Given the description of an element on the screen output the (x, y) to click on. 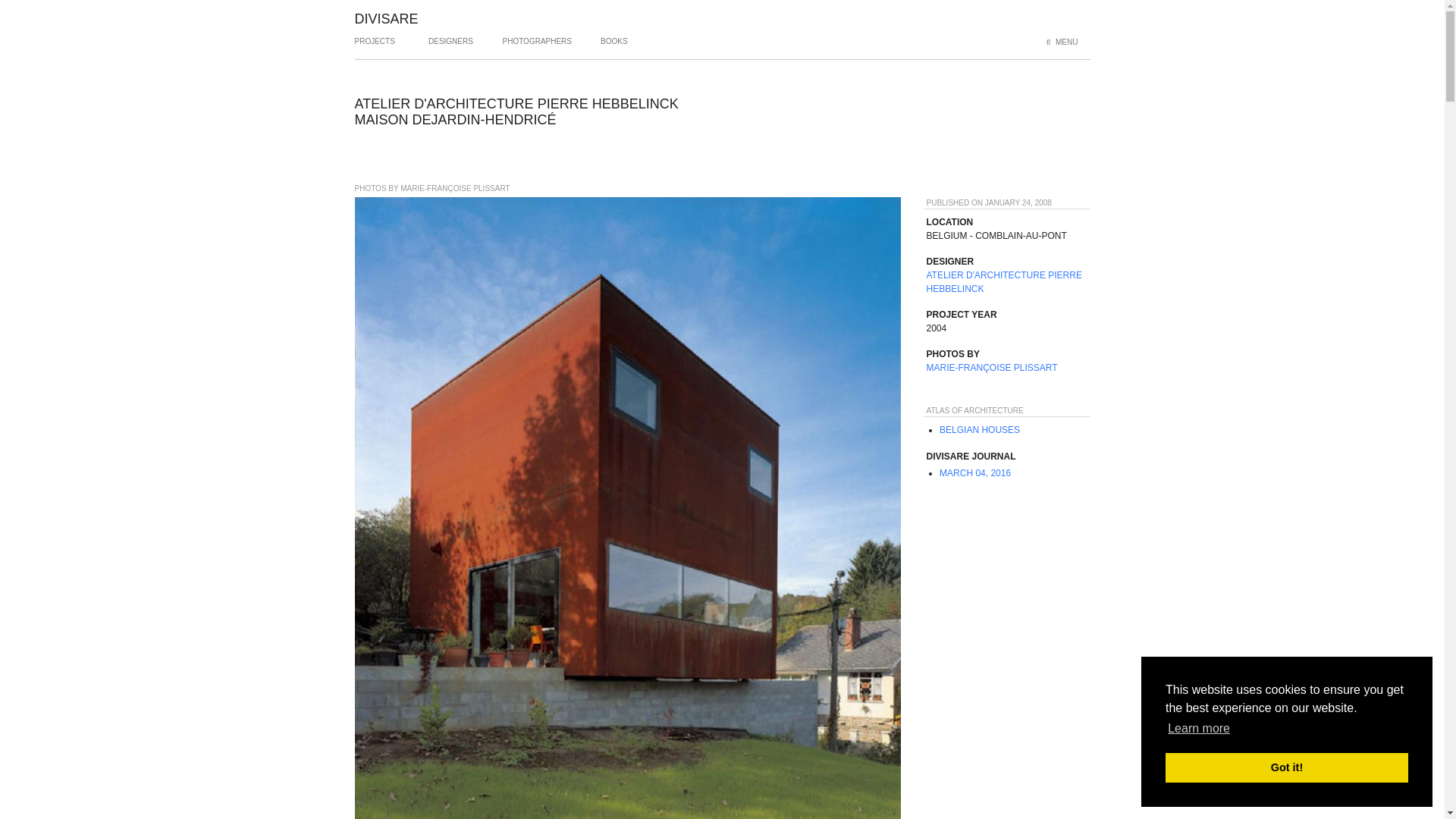
DIVISARE (387, 18)
Learn more (1198, 728)
Got it! (1286, 767)
PROJECTS (374, 46)
